Given the description of an element on the screen output the (x, y) to click on. 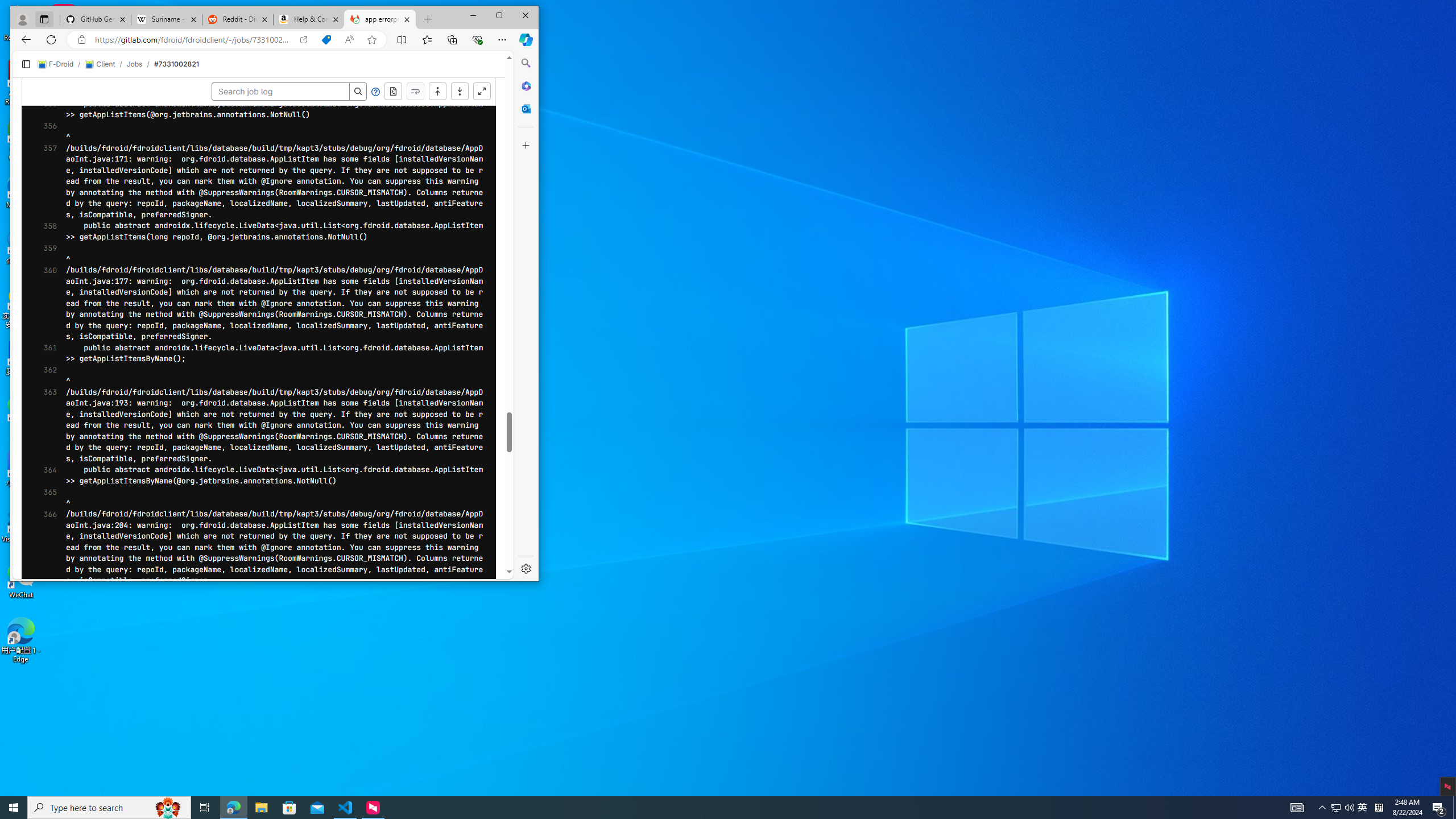
365 (47, 497)
363 (47, 425)
354 (47, 59)
AutomationID: 4105 (1297, 807)
Scroll to bottom (459, 91)
Running applications (707, 807)
F-Droid/ (61, 63)
364 (47, 475)
359 (47, 253)
Maximize (499, 15)
